Given the description of an element on the screen output the (x, y) to click on. 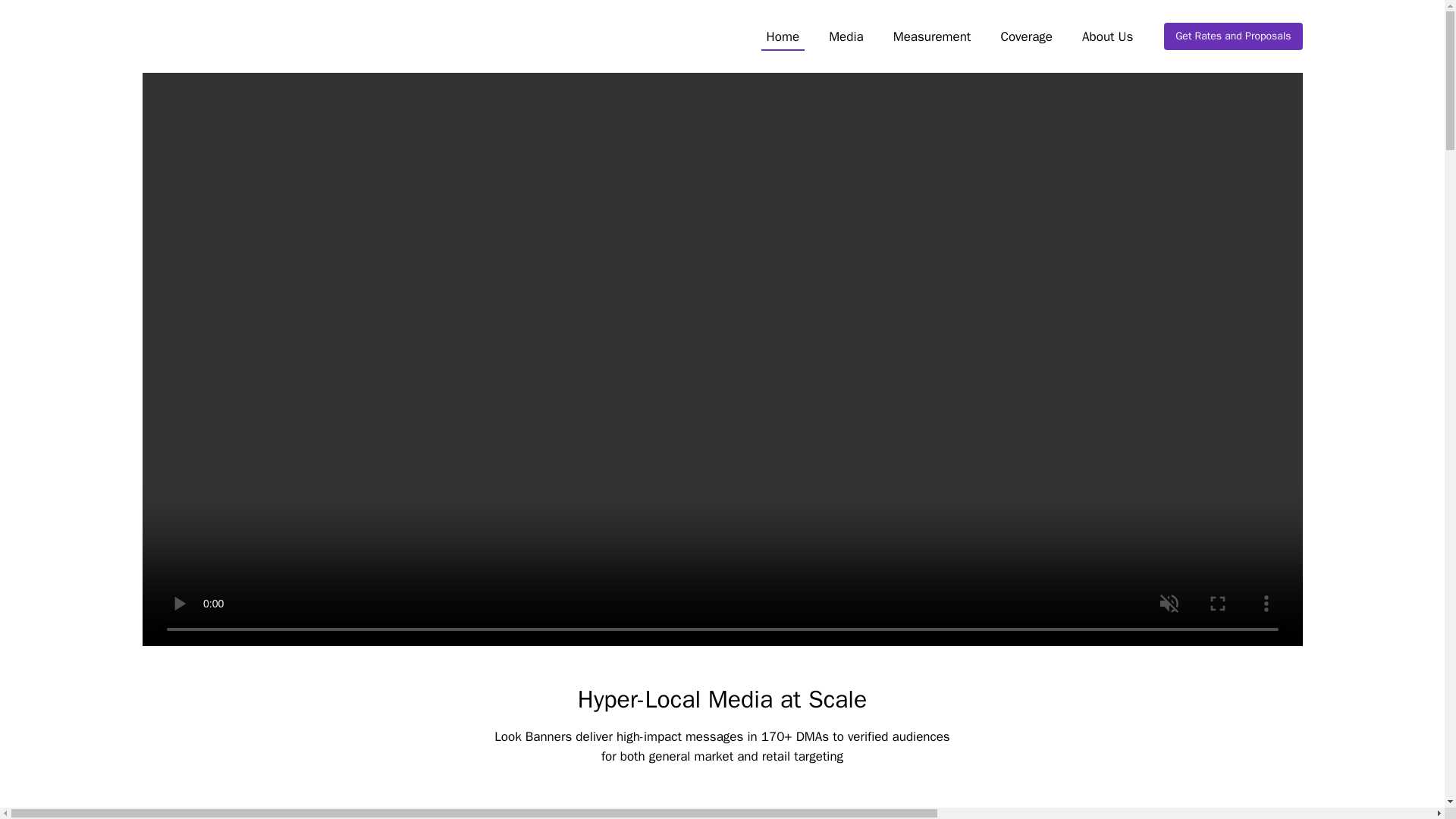
Get Rates and Proposals (1232, 35)
Coverage (1026, 37)
Home (783, 37)
About Us (1107, 37)
Measurement (931, 37)
Media (845, 37)
